Given the description of an element on the screen output the (x, y) to click on. 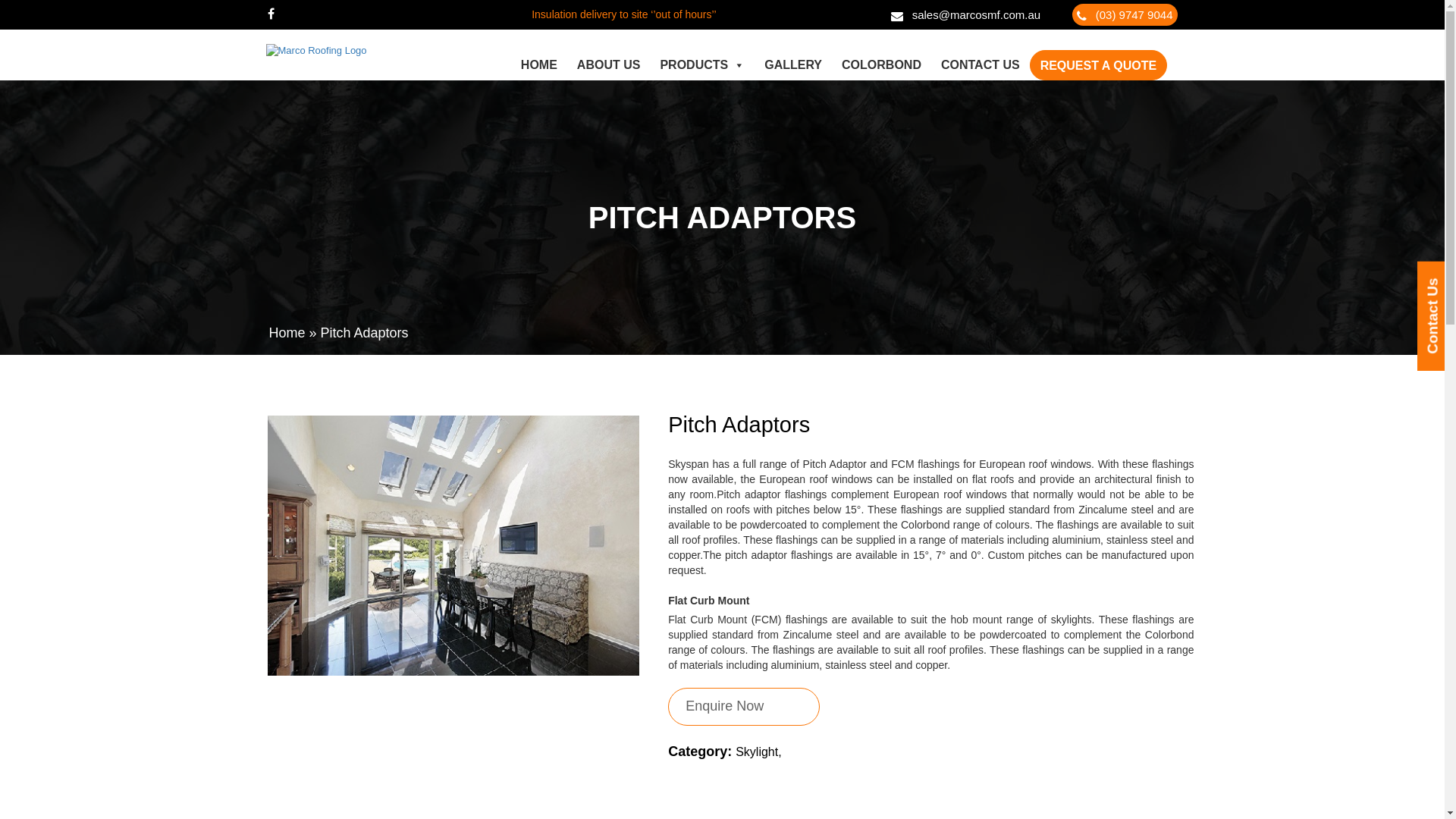
Enquire Now Element type: text (743, 706)
COLORBOND Element type: text (881, 65)
CONTACT US Element type: text (980, 65)
Facebook Element type: hover (269, 14)
(03) 9747 9044 Element type: text (1124, 14)
ABOUT US Element type: text (608, 65)
GALLERY Element type: text (792, 65)
PRODUCTS Element type: text (701, 65)
REQUEST A QUOTE Element type: text (1098, 65)
Home Element type: text (286, 332)
sales@marcosmf.com.au Element type: text (966, 14)
HOME Element type: text (539, 65)
